Given the description of an element on the screen output the (x, y) to click on. 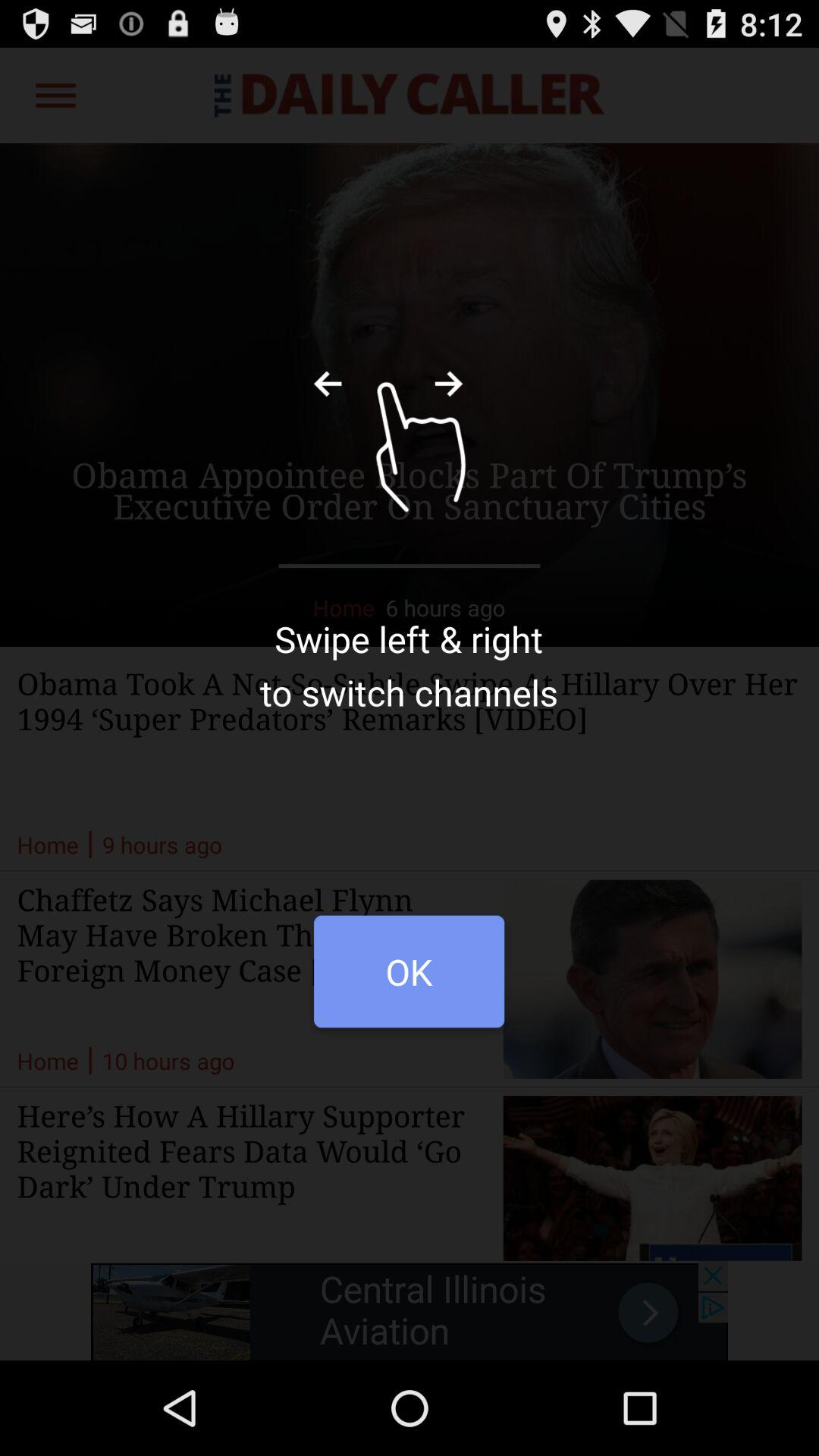
turn on item below the swipe left right item (408, 979)
